Given the description of an element on the screen output the (x, y) to click on. 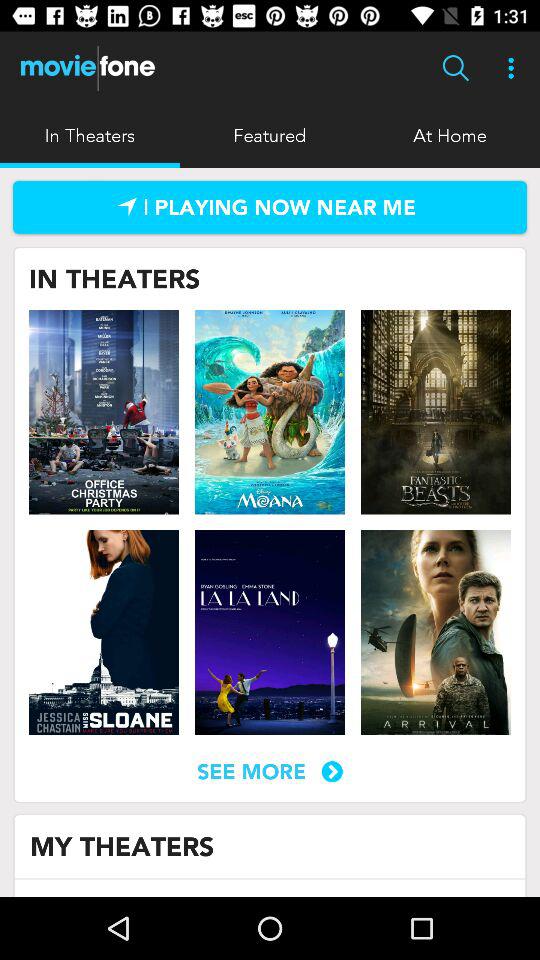
select the icon below the see more icon (122, 846)
